Given the description of an element on the screen output the (x, y) to click on. 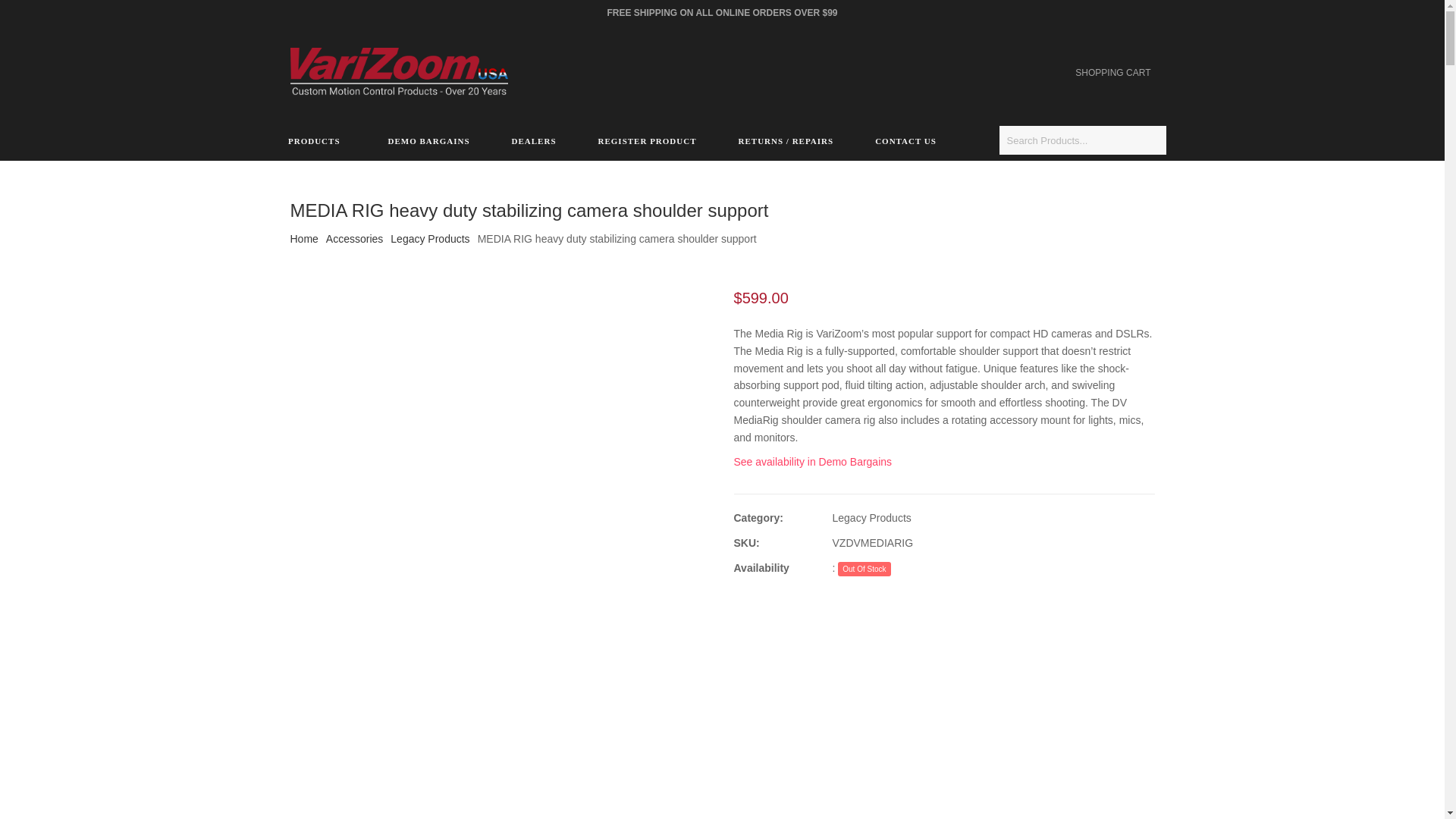
PRODUCTS (316, 140)
Accessories (354, 238)
Legacy Products (429, 238)
REGISTER PRODUCT (646, 140)
CONTACT US (906, 140)
DEALERS (533, 140)
DEMO BARGAINS (428, 140)
Home (303, 238)
